Given the description of an element on the screen output the (x, y) to click on. 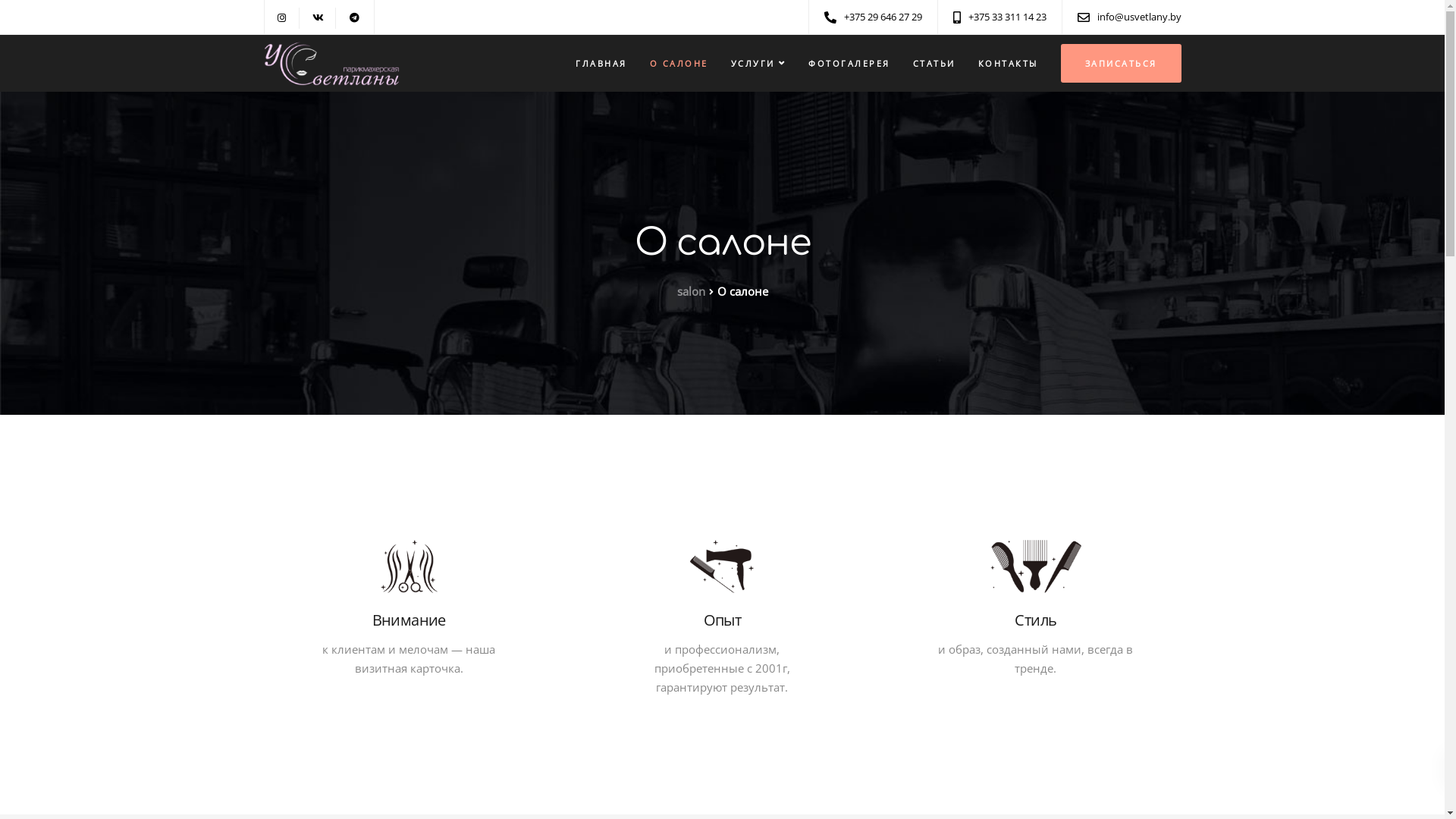
salon Element type: text (690, 290)
+375 33 311 14 23 Element type: text (1010, 16)
+375 29 646 27 29 Element type: text (885, 16)
i3 Element type: hover (1035, 566)
i2 Element type: hover (721, 566)
info@usvetlany.by Element type: text (1142, 16)
i1 Element type: hover (408, 566)
